Given the description of an element on the screen output the (x, y) to click on. 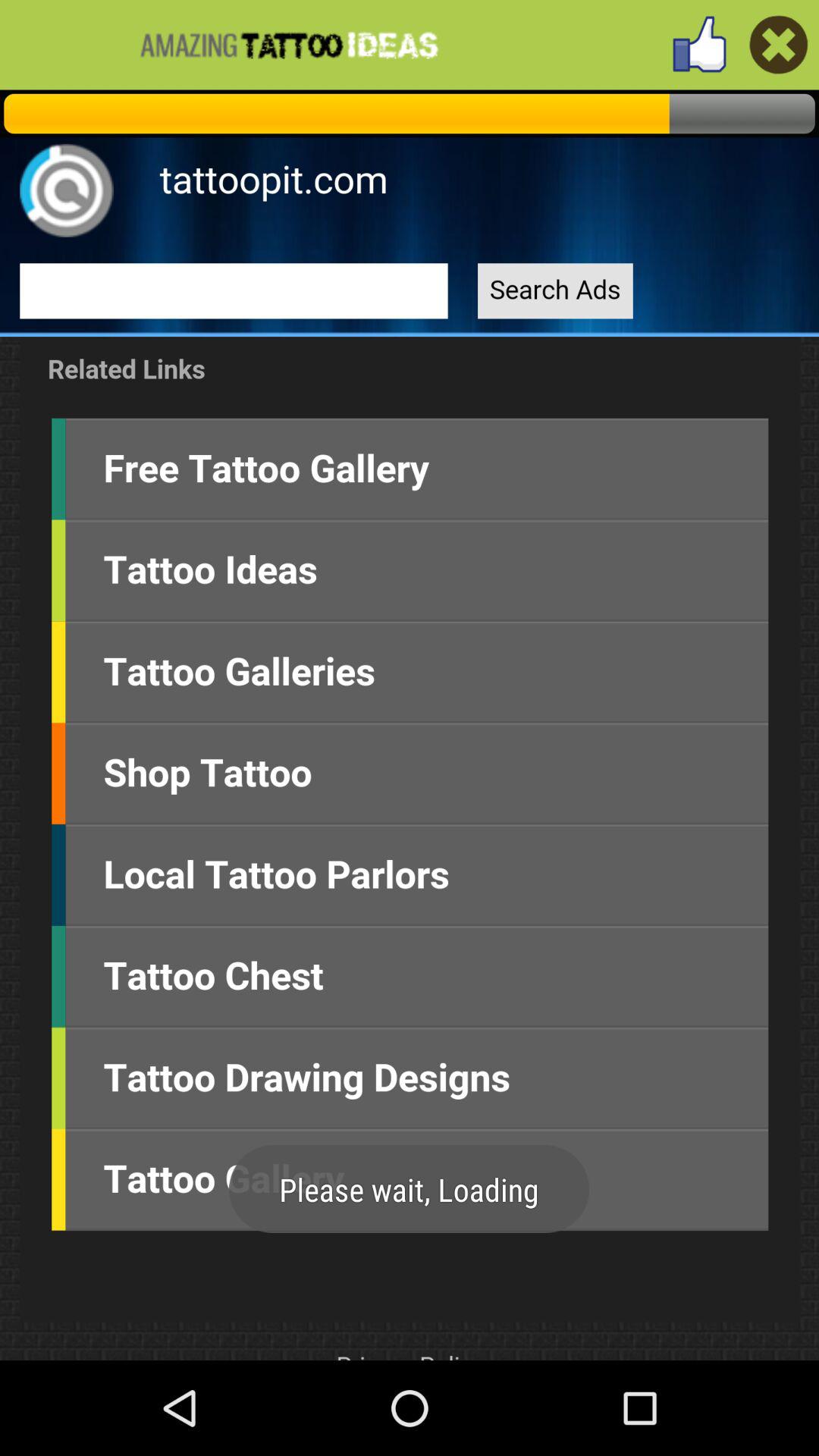
select link (409, 724)
